Given the description of an element on the screen output the (x, y) to click on. 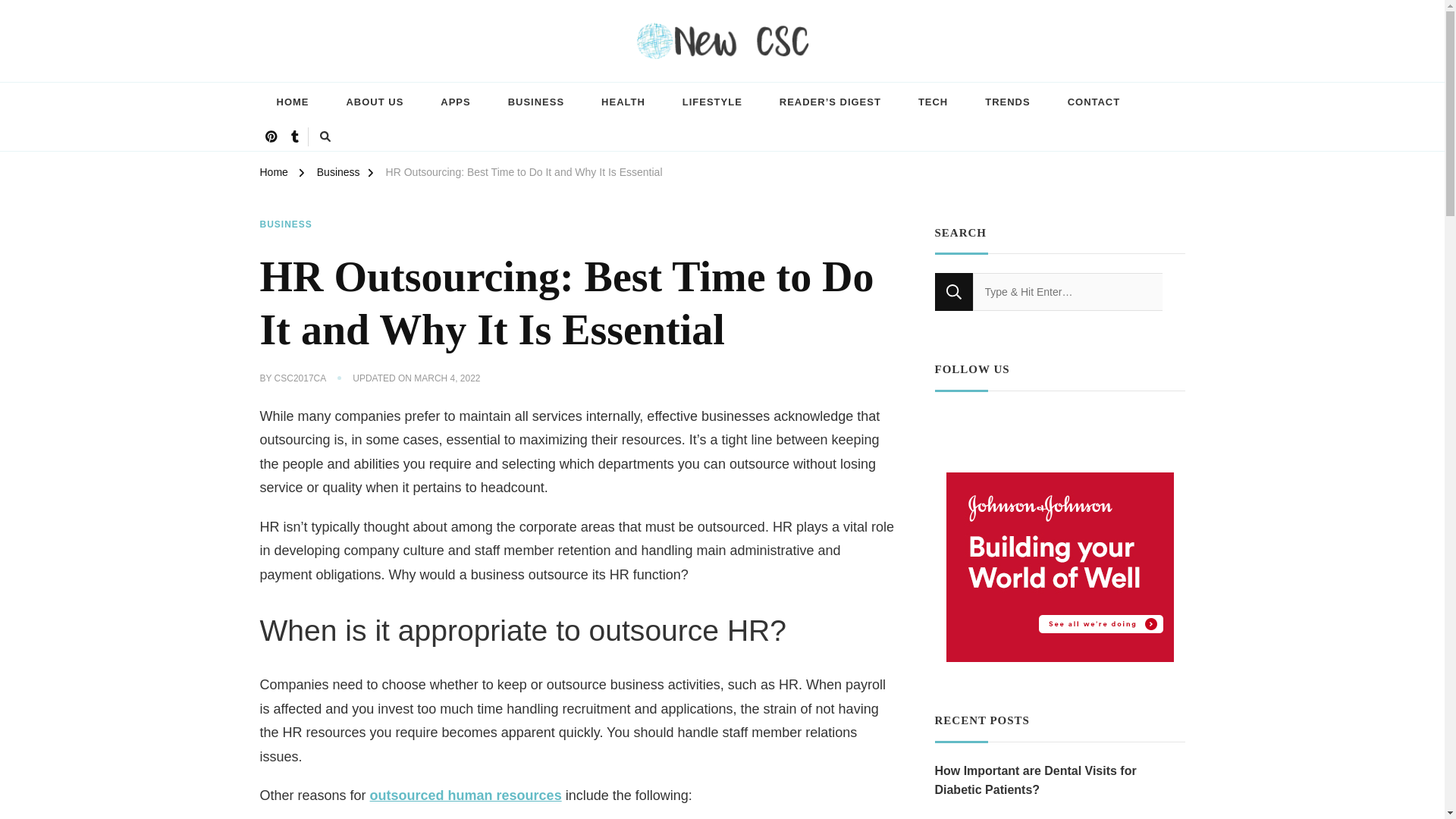
HR Outsourcing: Best Time to Do It and Why It Is Essential (523, 173)
APPS (454, 102)
TRENDS (1007, 102)
HOME (291, 102)
BUSINESS (536, 102)
outsourced human resources (465, 795)
LIFESTYLE (711, 102)
ABOUT US (374, 102)
HEALTH (623, 102)
MARCH 4, 2022 (446, 378)
Business (338, 173)
CONTACT (1094, 102)
New CSC (306, 73)
Search (953, 291)
Home (272, 173)
